Given the description of an element on the screen output the (x, y) to click on. 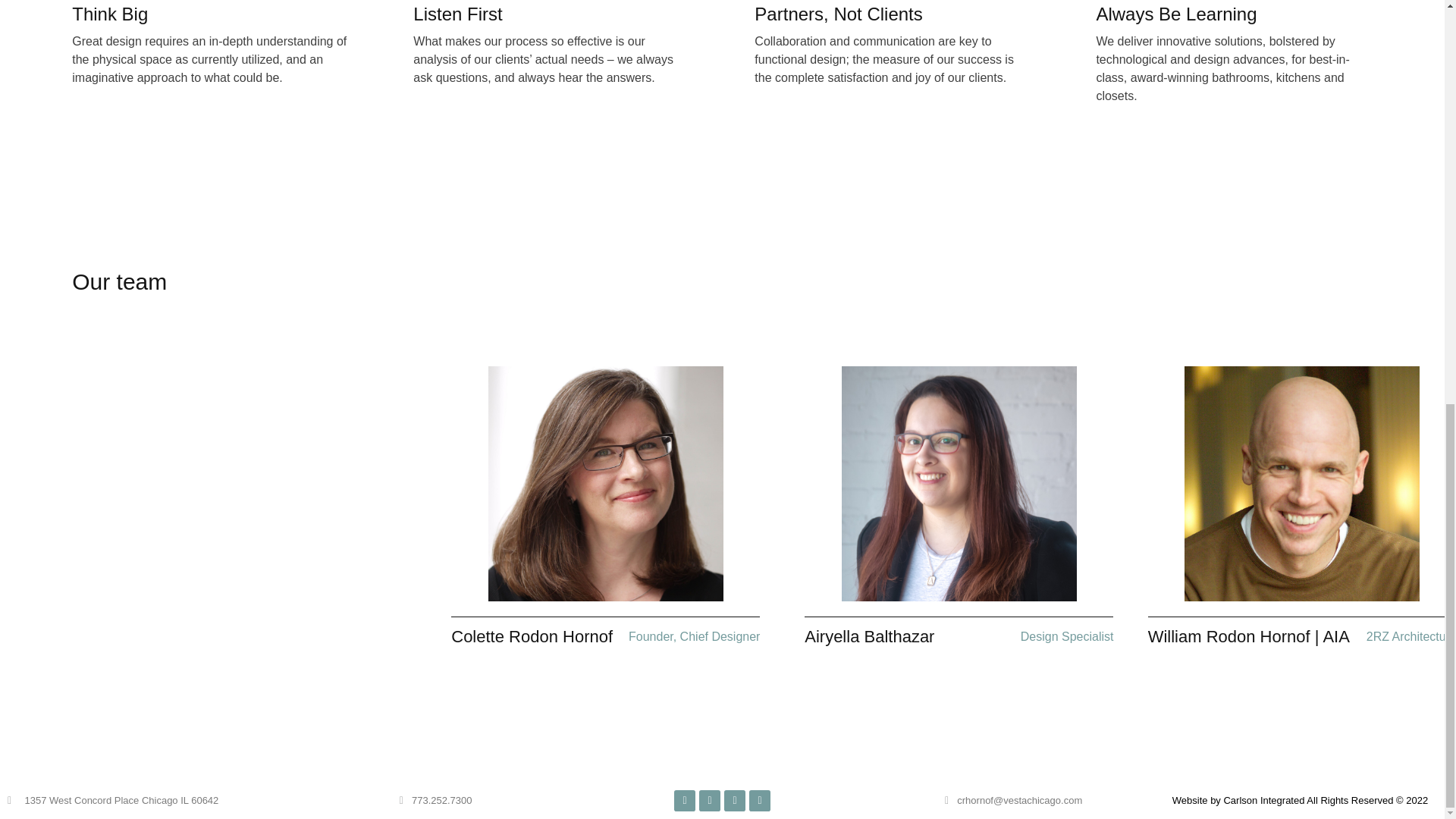
Colette Rodon Hornof (531, 636)
773.252.7300 (432, 800)
Founder, Chief Designer (694, 635)
Design Specialist (1066, 635)
Airyella Balthazar (869, 636)
